Given the description of an element on the screen output the (x, y) to click on. 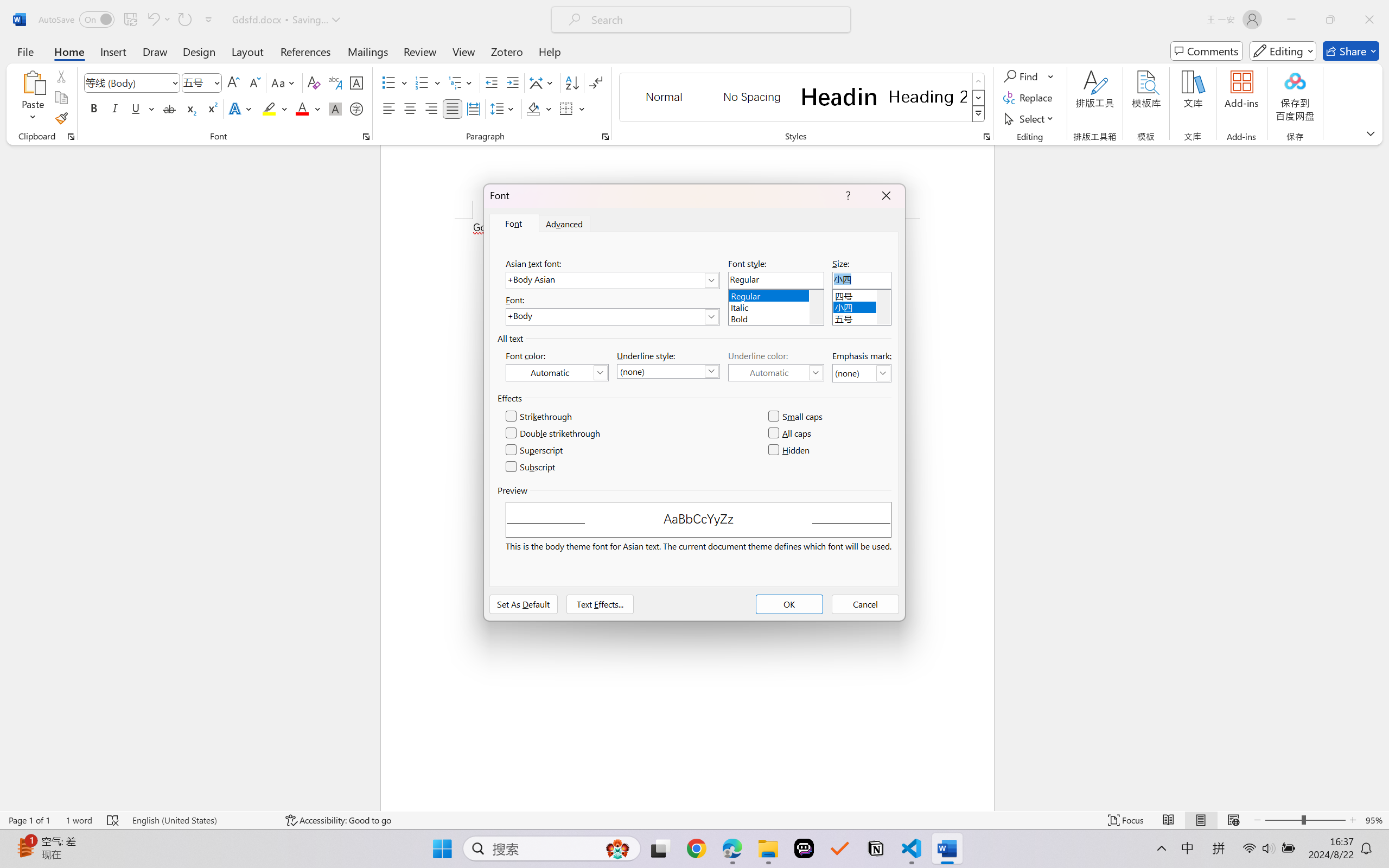
Asian Layout (542, 82)
Phonetic Guide... (334, 82)
Row up (978, 81)
OK (789, 603)
Emphasis mark: (861, 372)
Multilevel List (461, 82)
Text Highlight Color (274, 108)
Repeat Style (184, 19)
Font Color (Automatic) (556, 372)
